Given the description of an element on the screen output the (x, y) to click on. 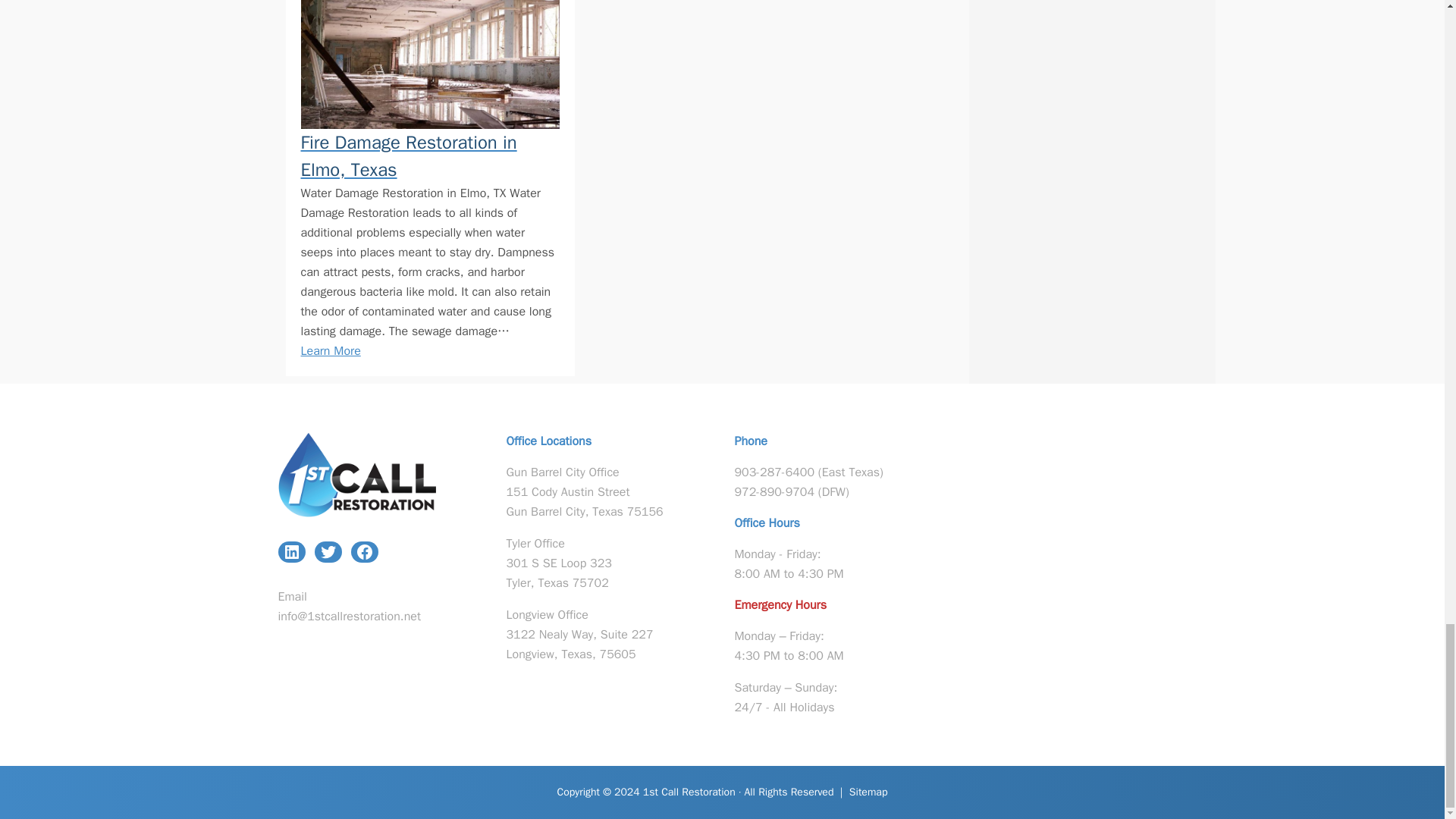
Fire Damage Restoration in Elmo, Texas (429, 155)
Learn More (329, 350)
